Given the description of an element on the screen output the (x, y) to click on. 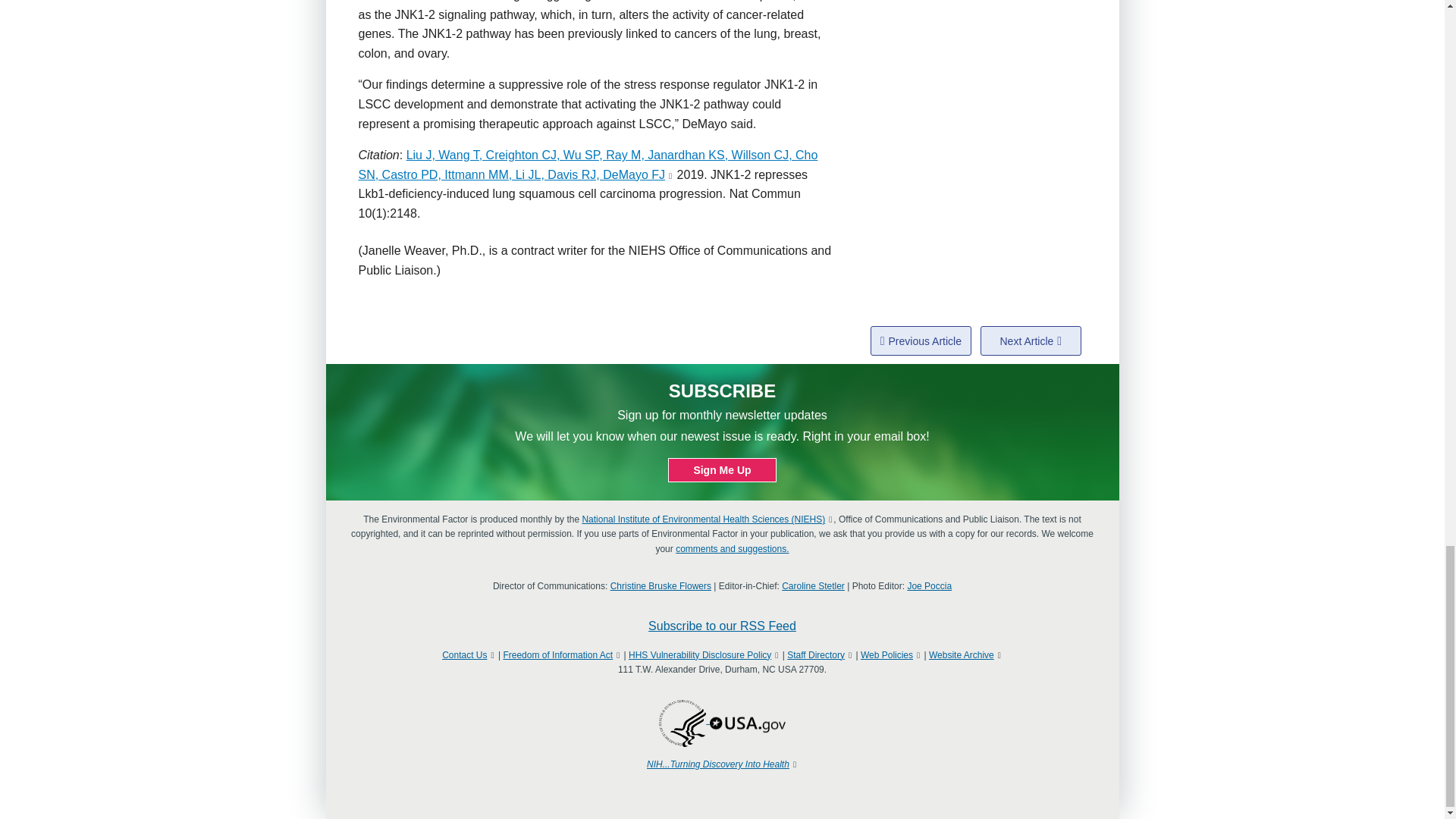
HHS Vulnerability Disclosure Policy (699, 655)
Freedom of Information Act (557, 655)
Contact Us (464, 655)
Next Article (1030, 340)
comments and suggestions. (732, 548)
Christine Bruske Flowers (660, 585)
Previous Article (920, 340)
Staff Directory (815, 655)
Sign Me Up (722, 469)
